Given the description of an element on the screen output the (x, y) to click on. 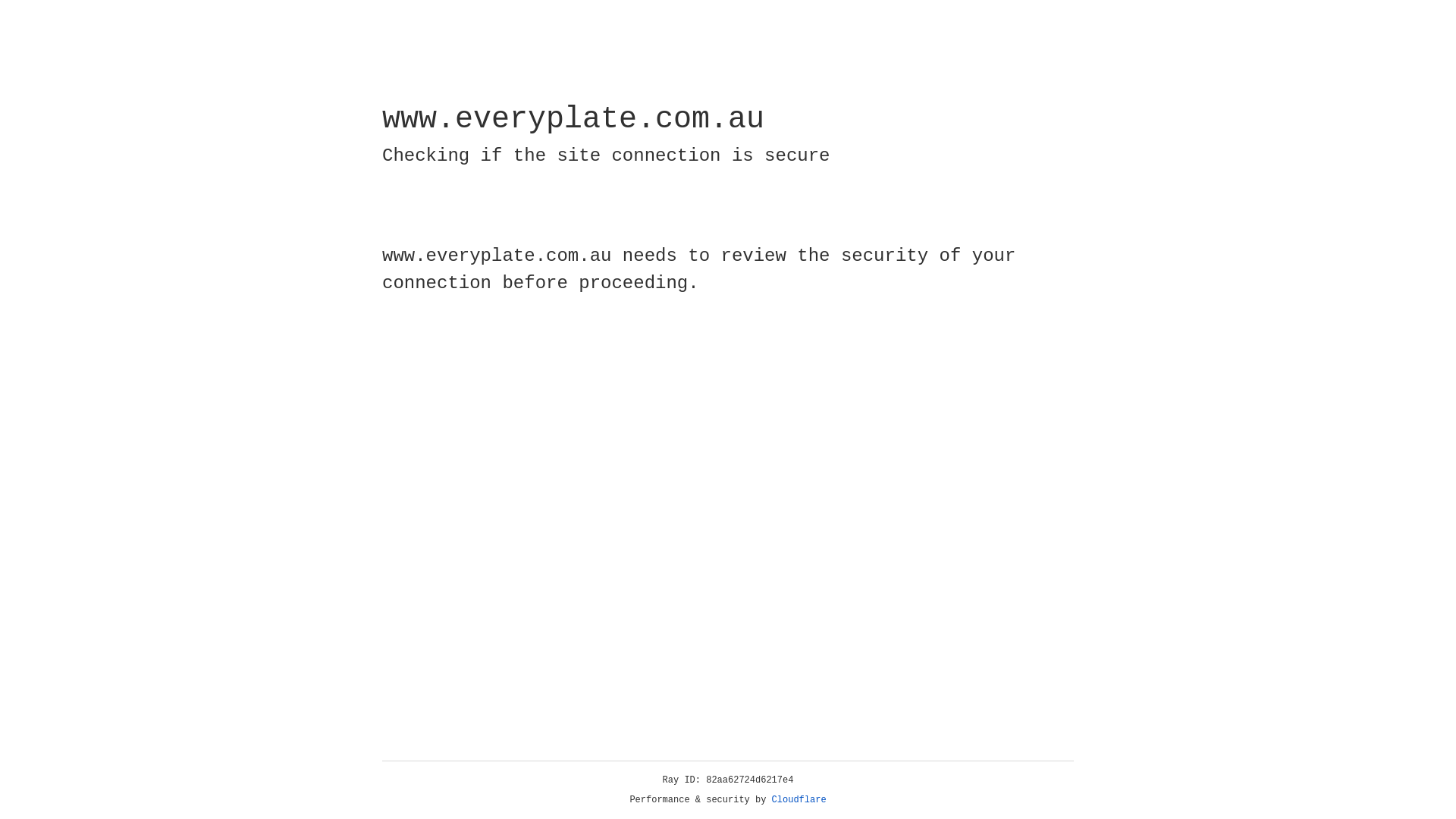
Cloudflare Element type: text (798, 799)
